Given the description of an element on the screen output the (x, y) to click on. 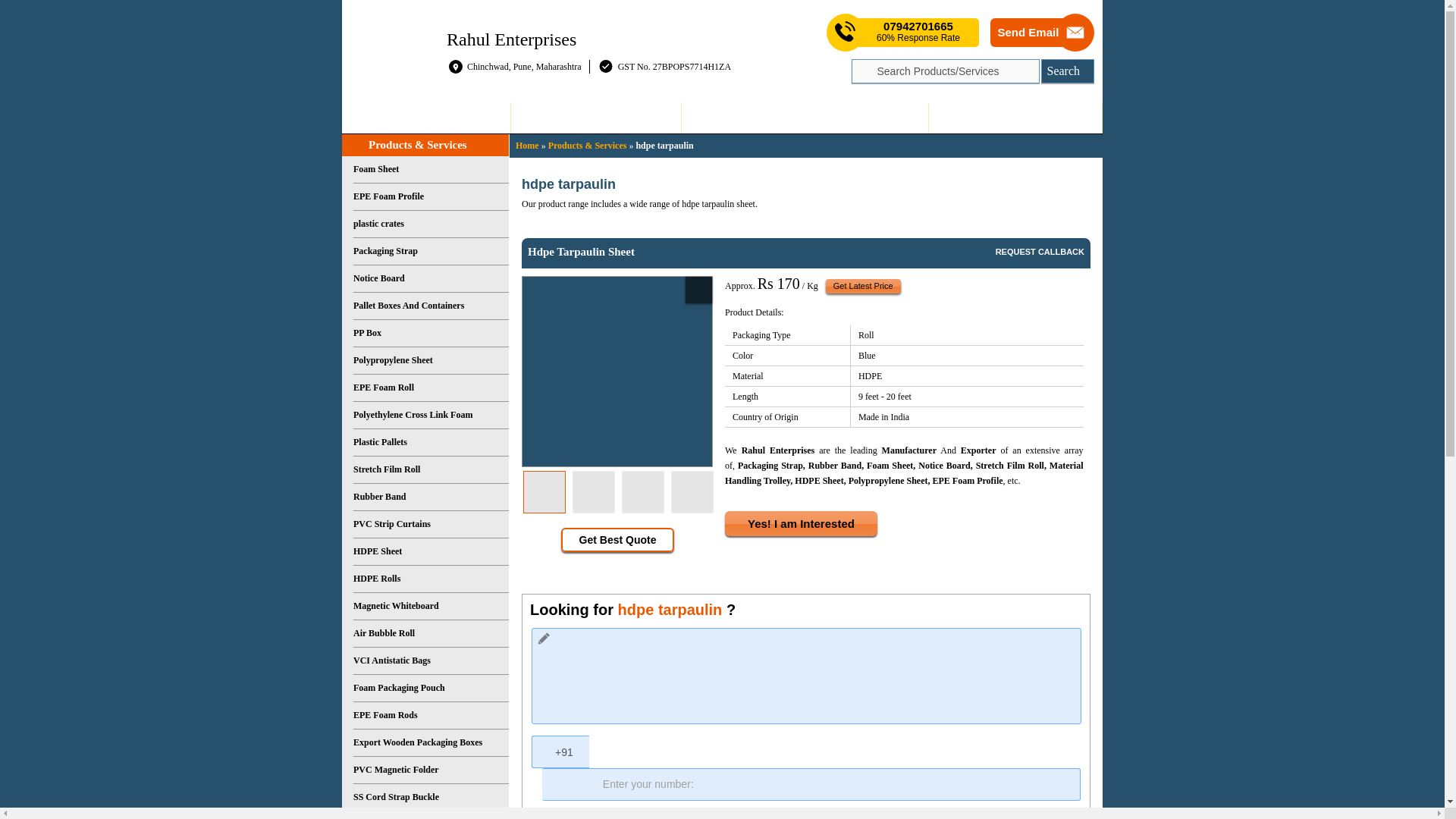
EPE Foam Profile (430, 196)
Home (526, 145)
Enter your name: (806, 815)
Plastic Pallets (430, 442)
Packaging Strap (430, 251)
PP Box (430, 333)
About Us (595, 118)
Foam Sheet (430, 169)
Polypropylene Sheet (430, 360)
Stretch Film Roll (430, 470)
Send SMS Free (917, 32)
Contact Us (1015, 118)
Home (426, 118)
Notice Board (430, 278)
EPE Foam Roll (430, 388)
